Given the description of an element on the screen output the (x, y) to click on. 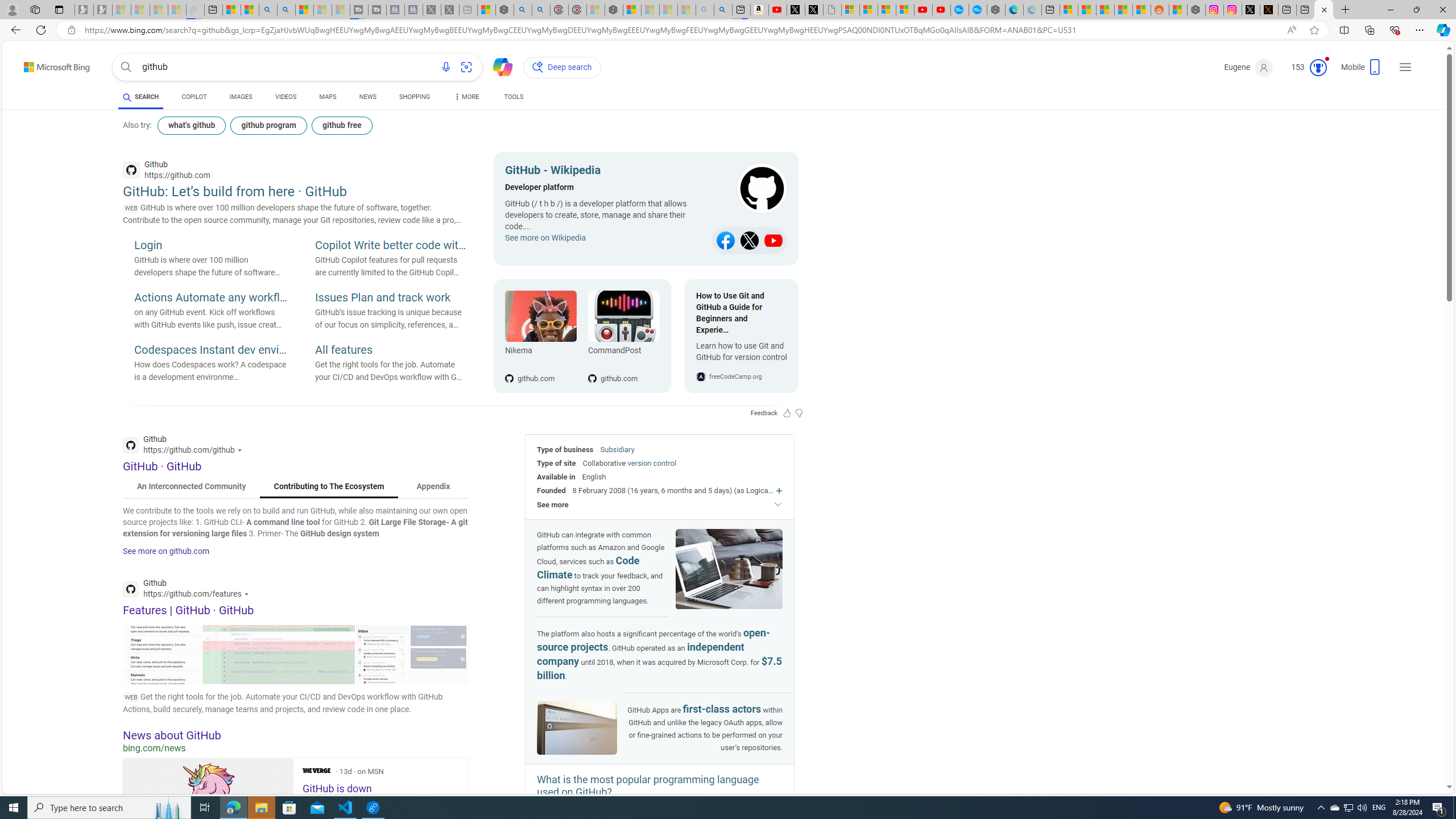
The Verge on MSN.com (316, 770)
what's github (191, 125)
GitHub - Wikipedia (604, 171)
Type of business (565, 449)
Search button (126, 66)
SHOPPING (414, 96)
